Given the description of an element on the screen output the (x, y) to click on. 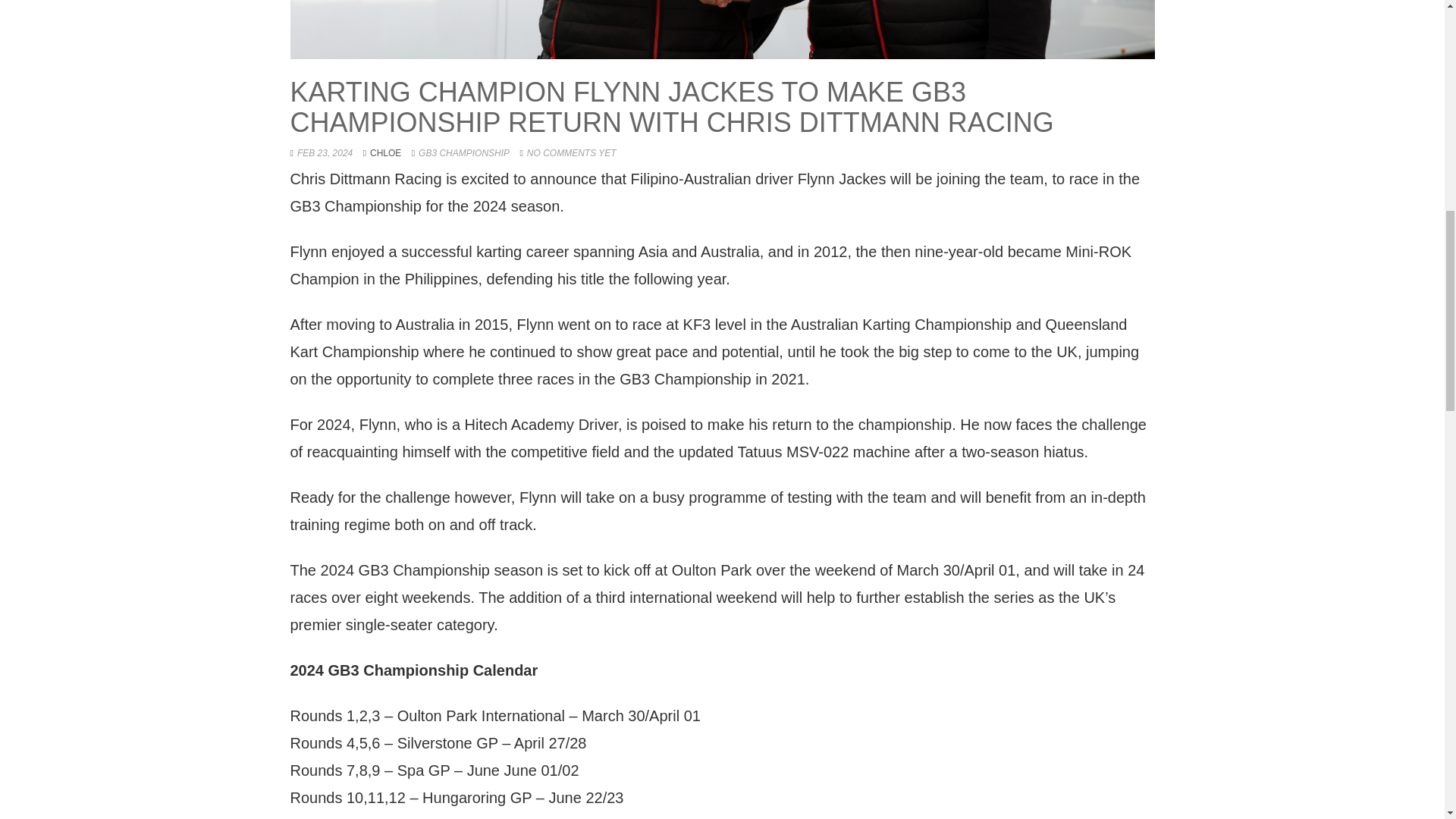
NO COMMENTS YET (571, 153)
FEB 23, 2024 (324, 153)
GB3 CHAMPIONSHIP (464, 153)
